Given the description of an element on the screen output the (x, y) to click on. 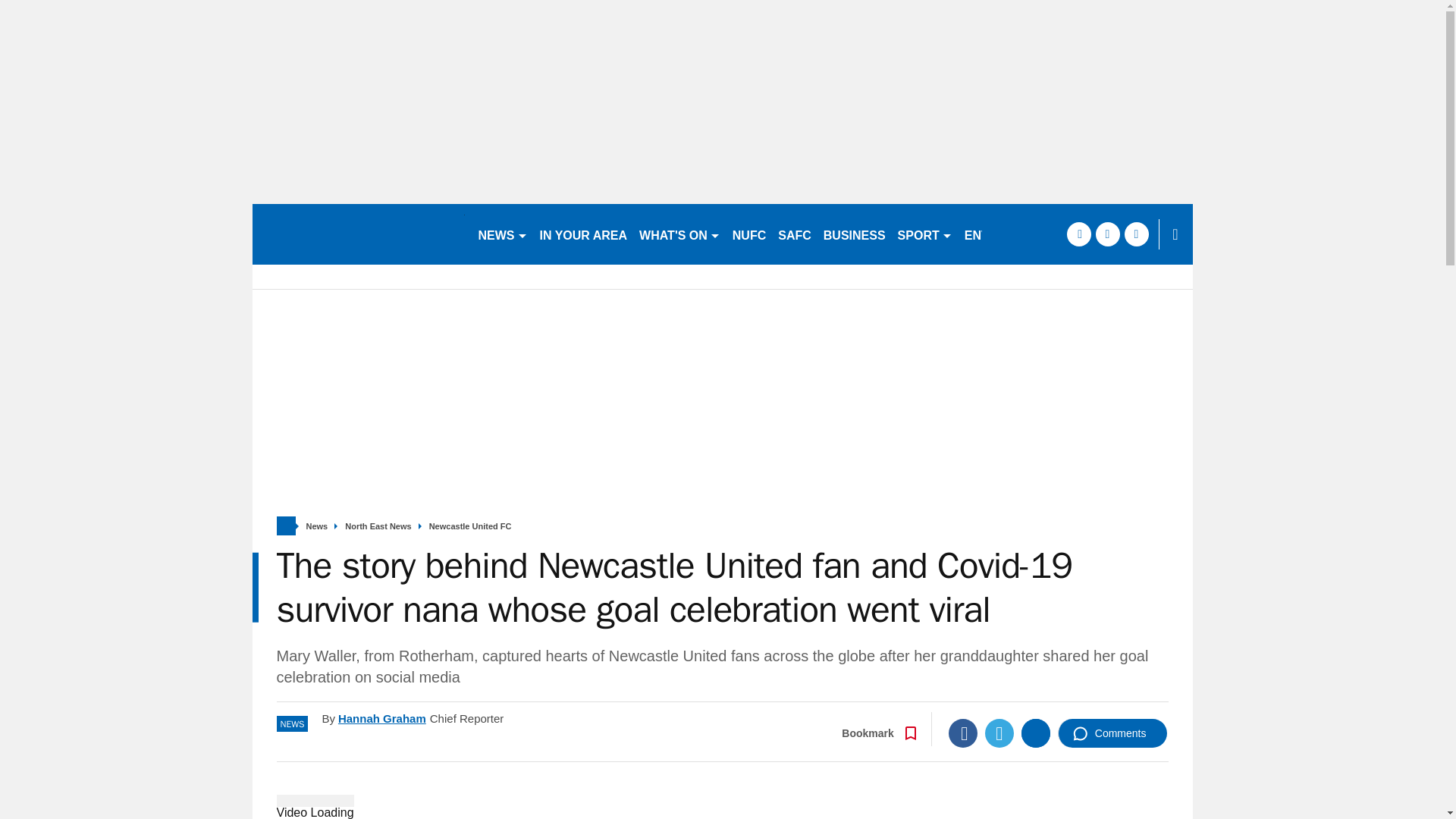
facebook (1077, 233)
WHAT'S ON (679, 233)
NEWS (501, 233)
Facebook (962, 733)
SPORT (924, 233)
IN YOUR AREA (583, 233)
twitter (1106, 233)
instagram (1136, 233)
Comments (1112, 733)
nechronicle (357, 233)
